Given the description of an element on the screen output the (x, y) to click on. 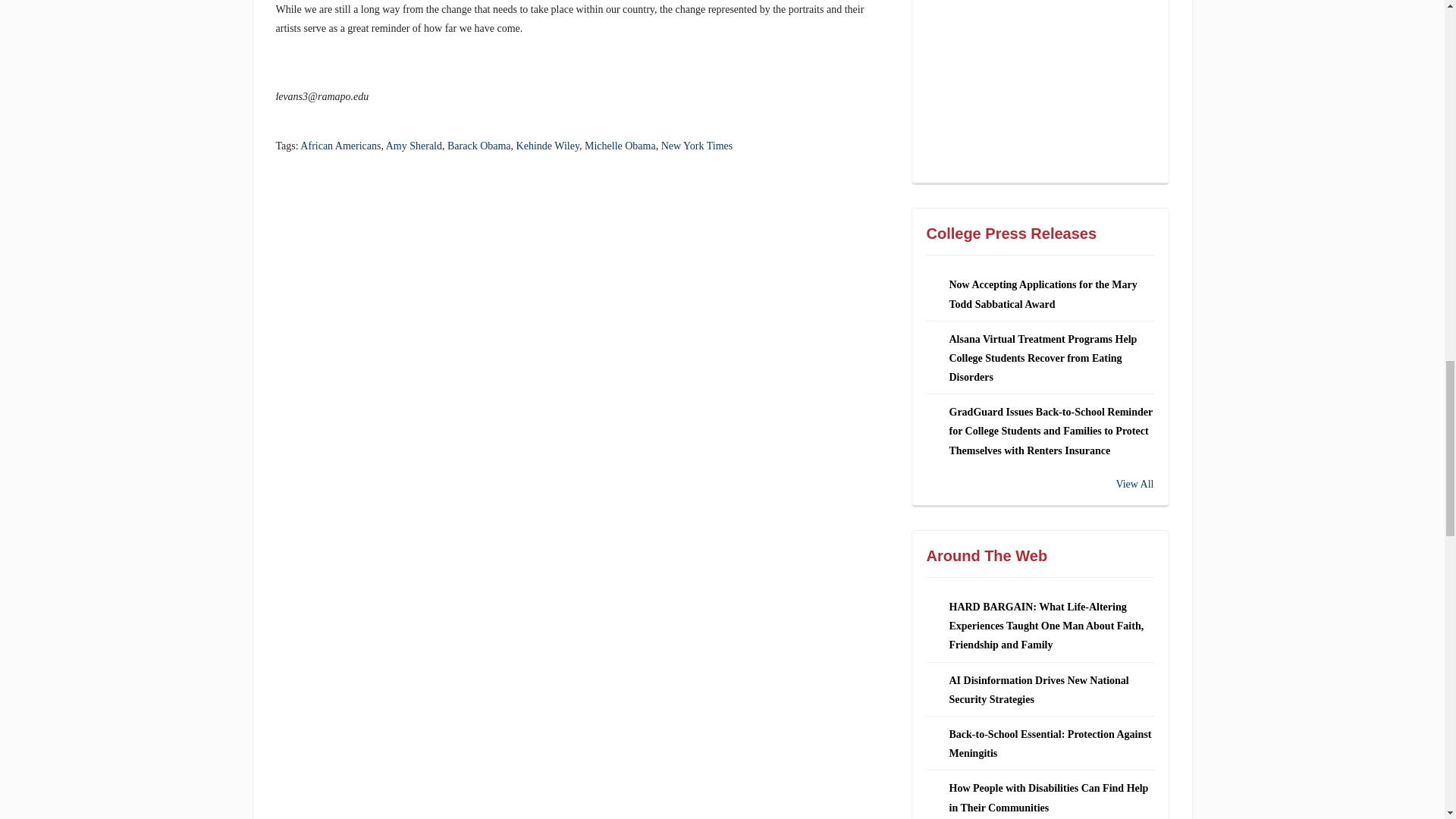
AI Disinformation Drives New National Security Strategies (1039, 689)
Back-to-School Essential: Protection Against Meningitis (1050, 743)
